Given the description of an element on the screen output the (x, y) to click on. 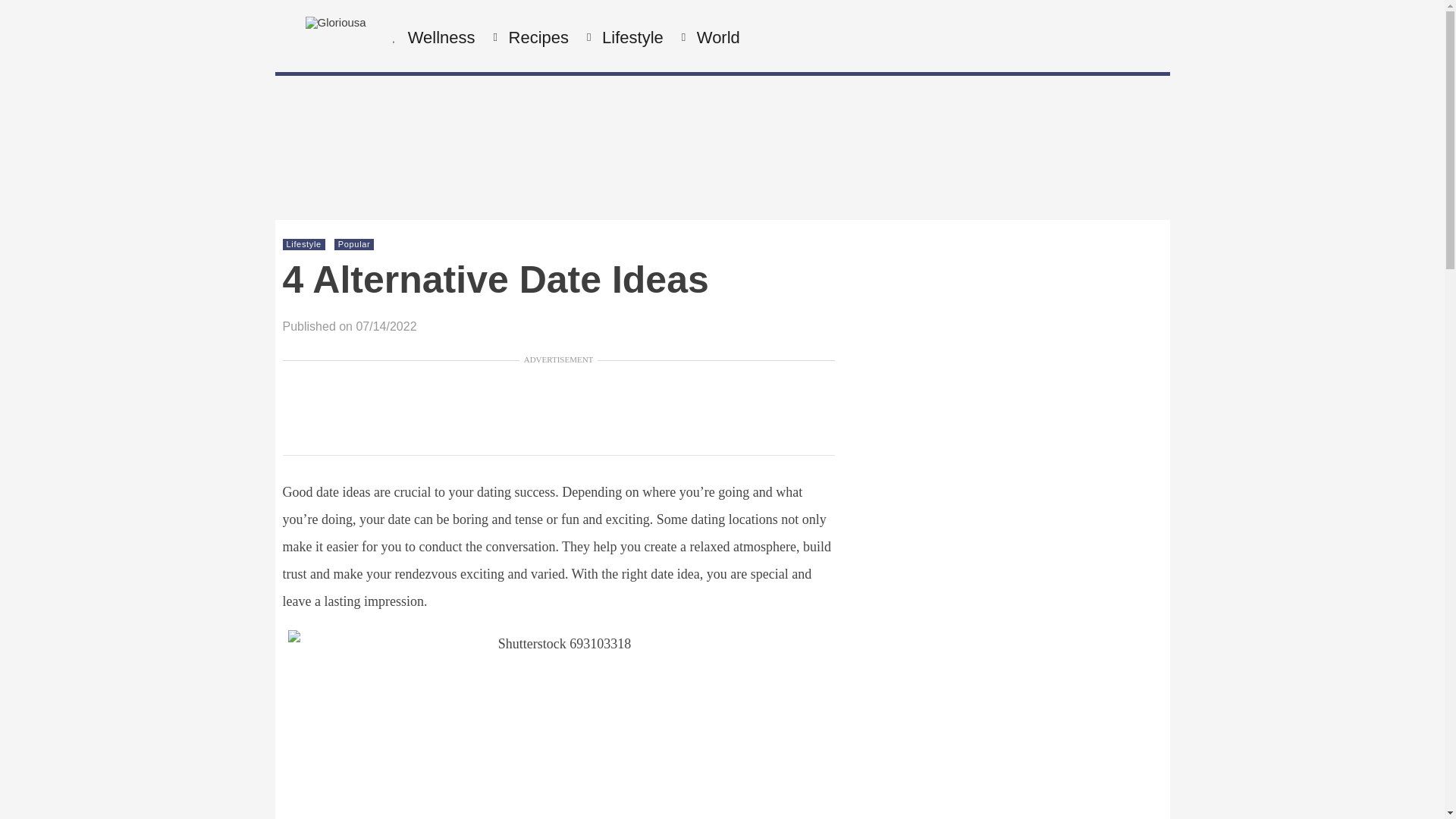
World (716, 37)
Gloriousa (334, 21)
Lifestyle (303, 243)
Popular (354, 243)
Wellness (440, 37)
Lifestyle (630, 37)
Recipes (537, 37)
